Given the description of an element on the screen output the (x, y) to click on. 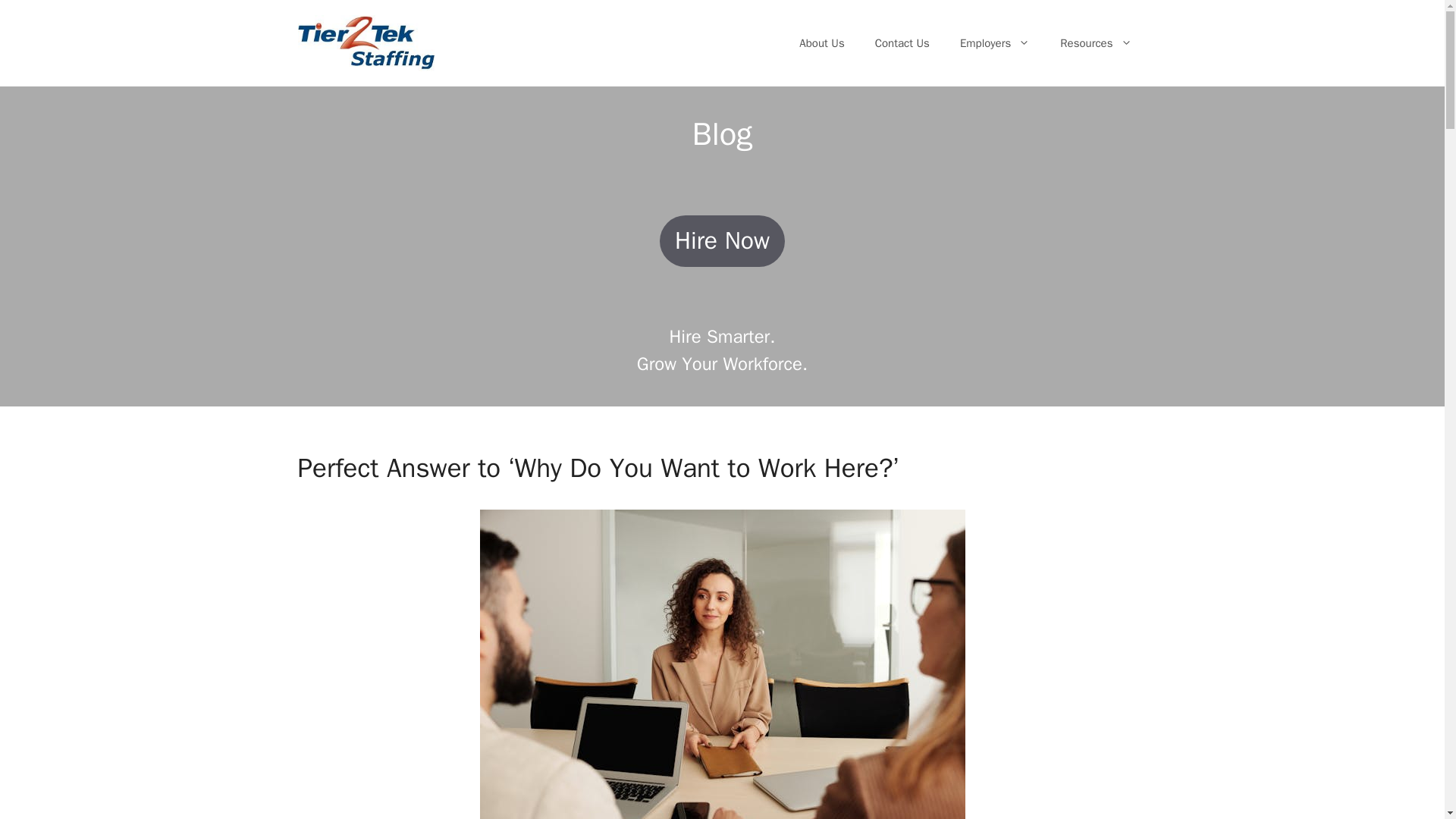
Employers (994, 43)
Resources (1096, 43)
Contact Us (902, 43)
About Us (821, 43)
Hire Now (721, 240)
